Given the description of an element on the screen output the (x, y) to click on. 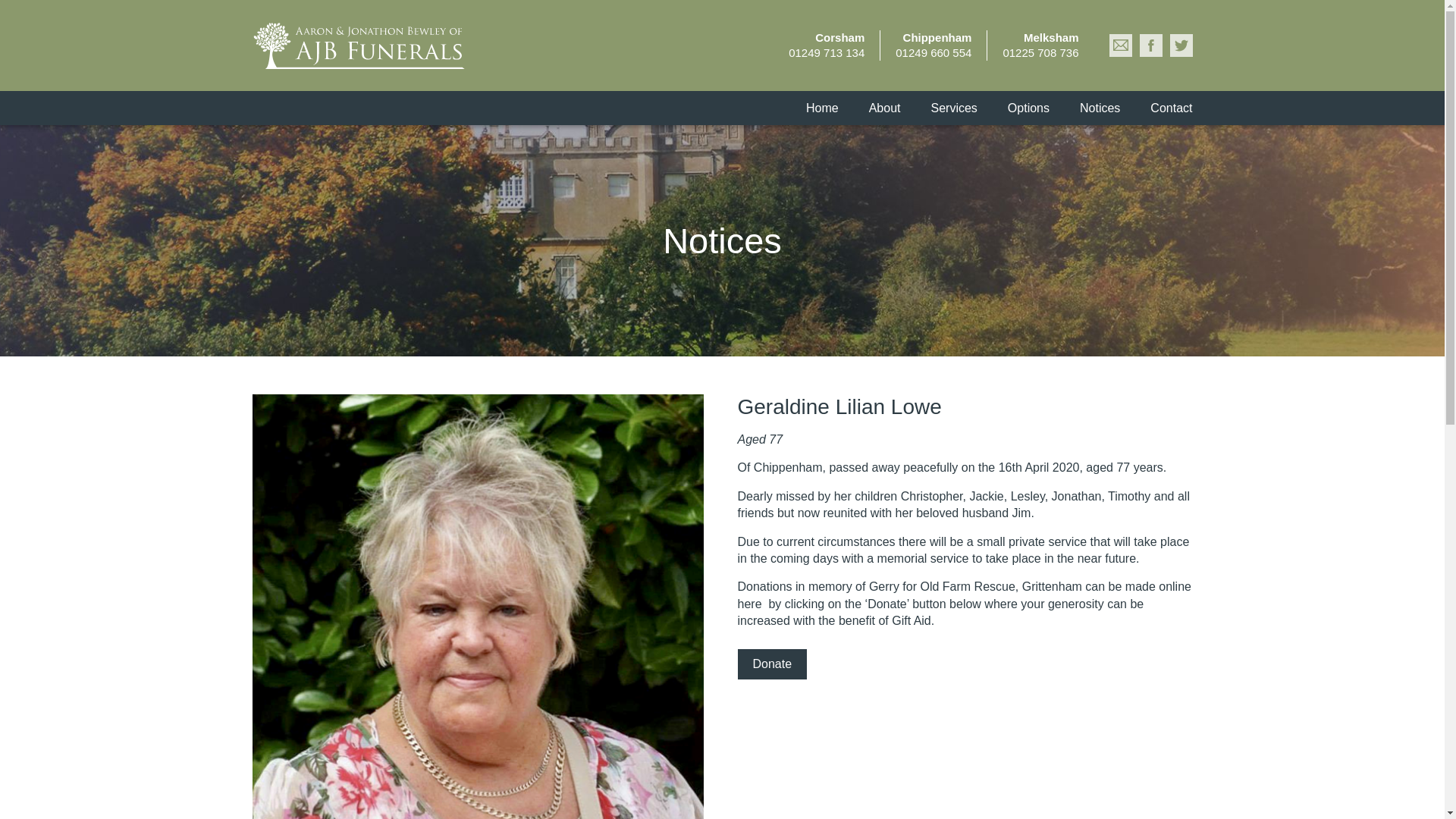
Home (822, 107)
Facebook (1149, 45)
About (885, 107)
Contact (1171, 107)
Twitter (1180, 45)
Notices (1099, 107)
Services (953, 107)
Options (1028, 107)
Donate (771, 664)
